Given the description of an element on the screen output the (x, y) to click on. 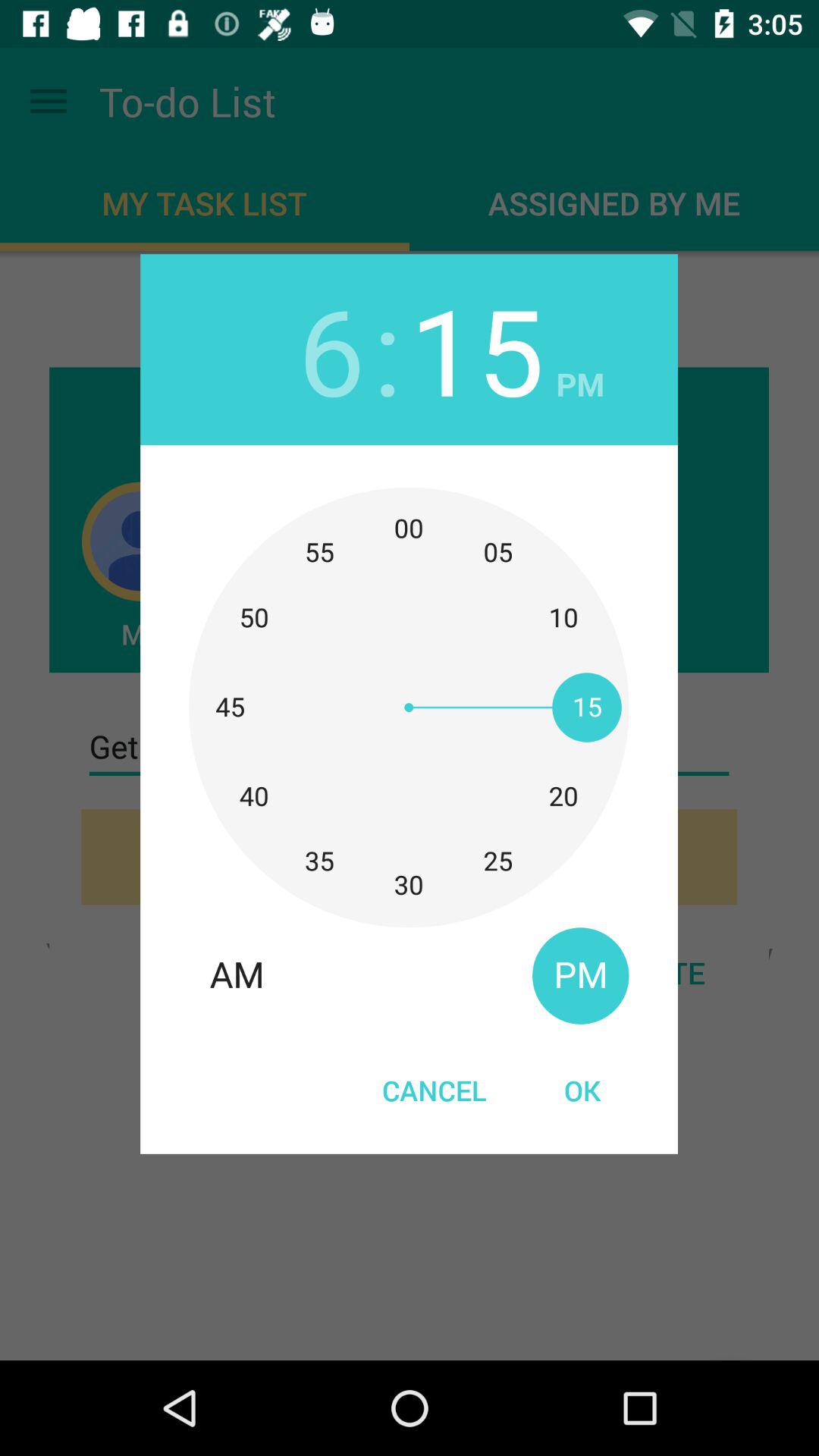
scroll to cancel (434, 1090)
